Given the description of an element on the screen output the (x, y) to click on. 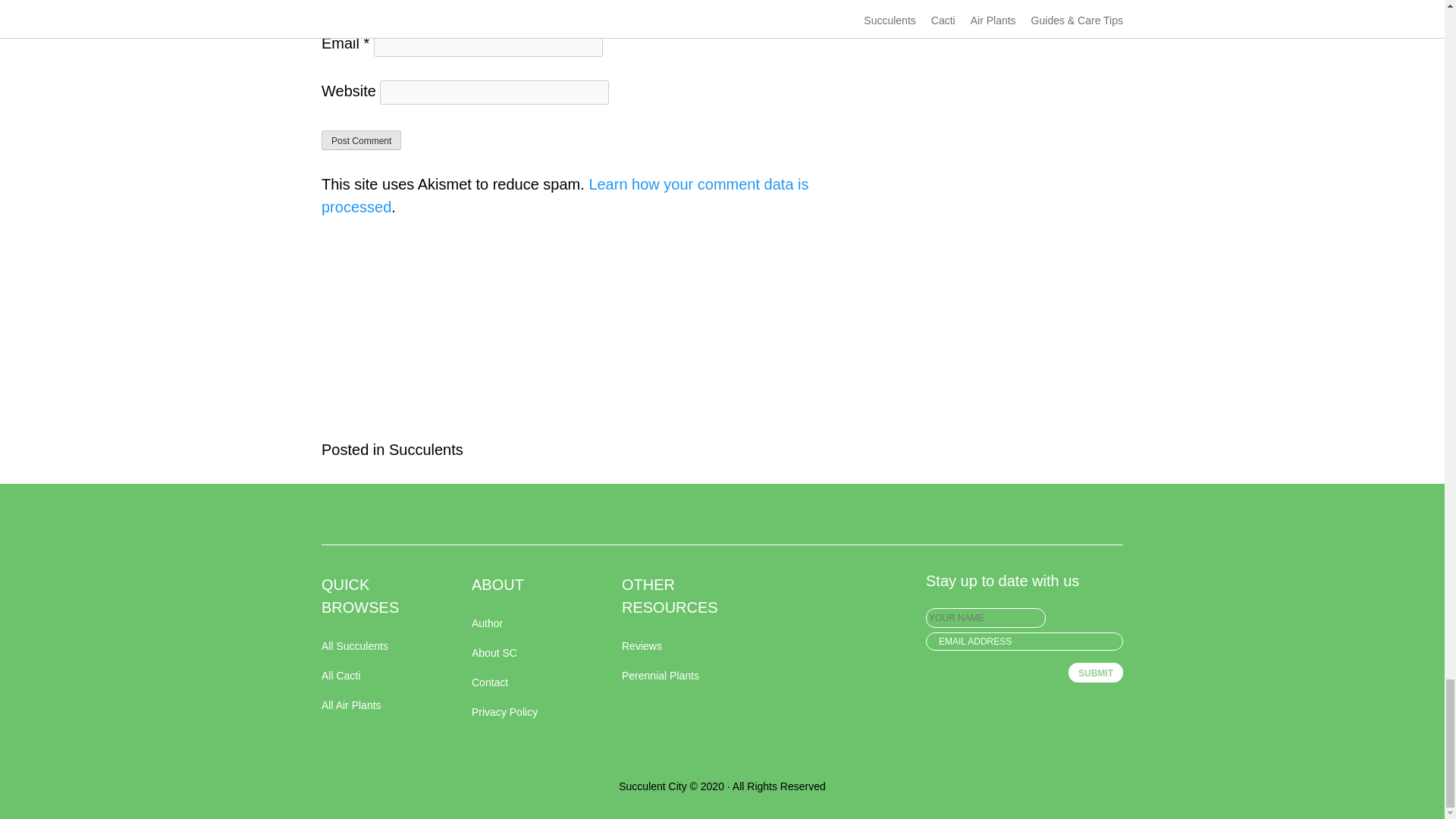
Post Comment (361, 139)
Submit (1095, 672)
All Succulents (378, 646)
All Cacti (378, 675)
Post Comment (361, 139)
QUICK BROWSES (378, 595)
Learn how your comment data is processed (565, 195)
